Given the description of an element on the screen output the (x, y) to click on. 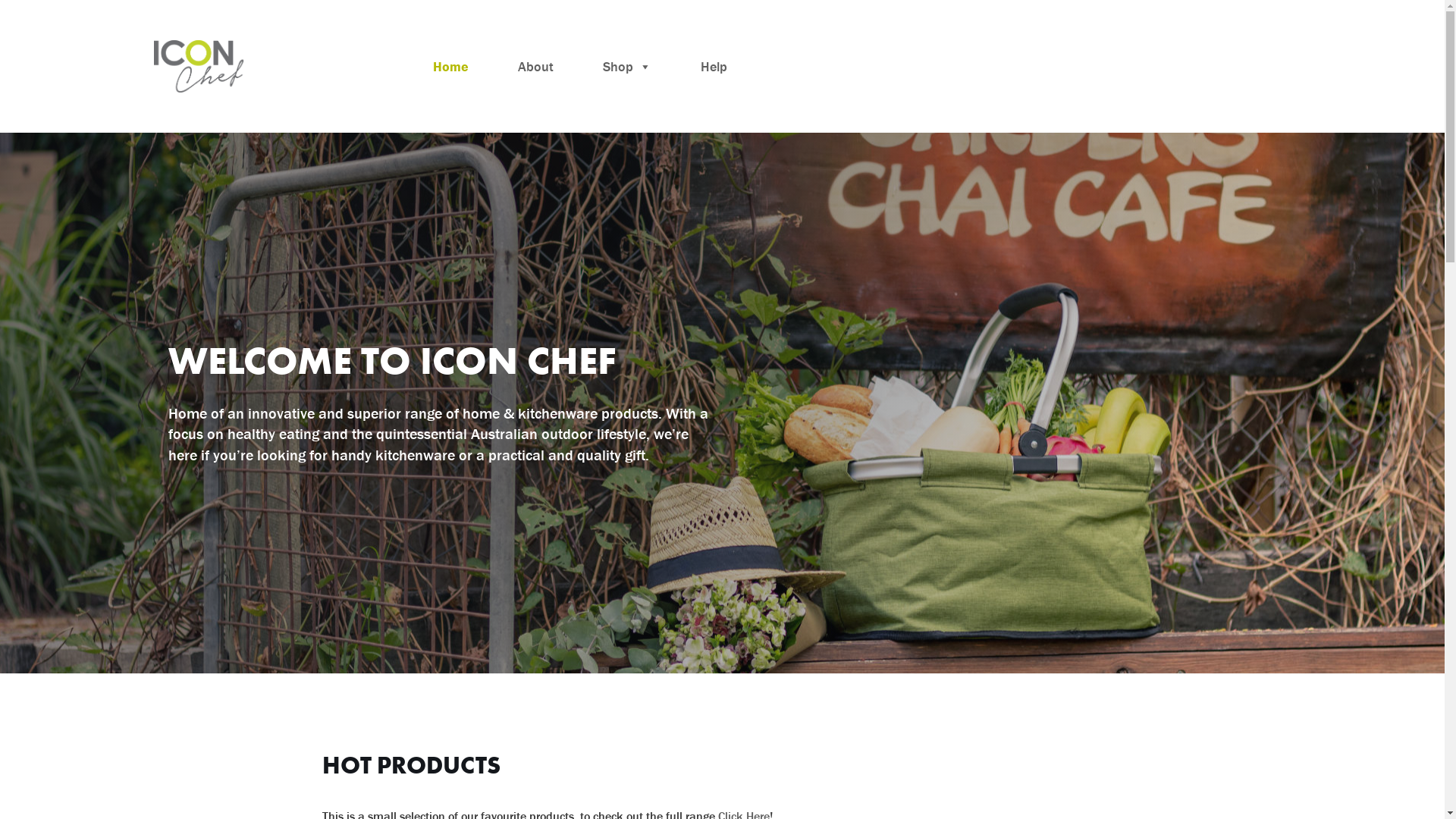
Skip to content Element type: text (11, 31)
Help Element type: text (713, 66)
Home Element type: text (449, 66)
Shop Element type: text (626, 66)
About Element type: text (534, 66)
